Given the description of an element on the screen output the (x, y) to click on. 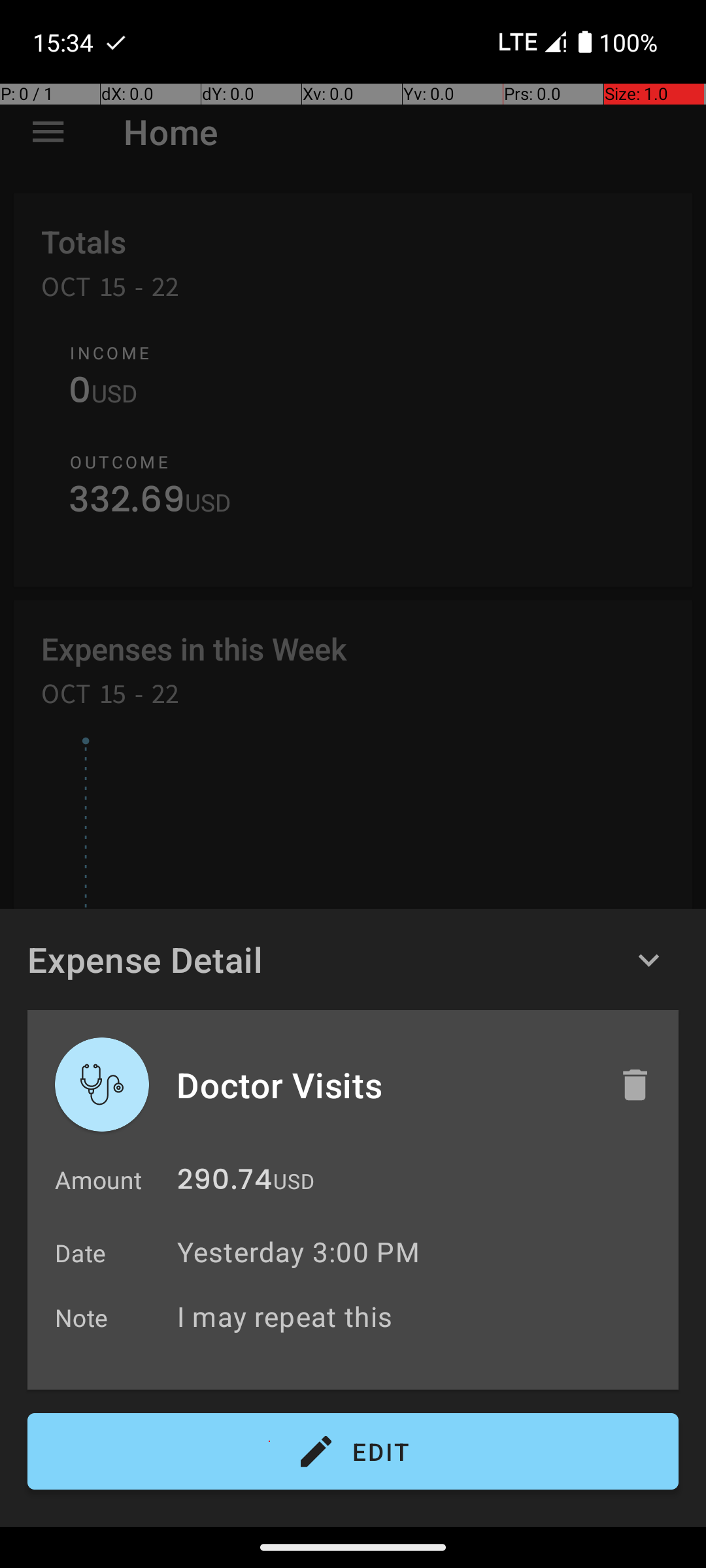
290.74 Element type: android.widget.TextView (224, 1182)
Yesterday 3:00 PM Element type: android.widget.TextView (298, 1251)
